Given the description of an element on the screen output the (x, y) to click on. 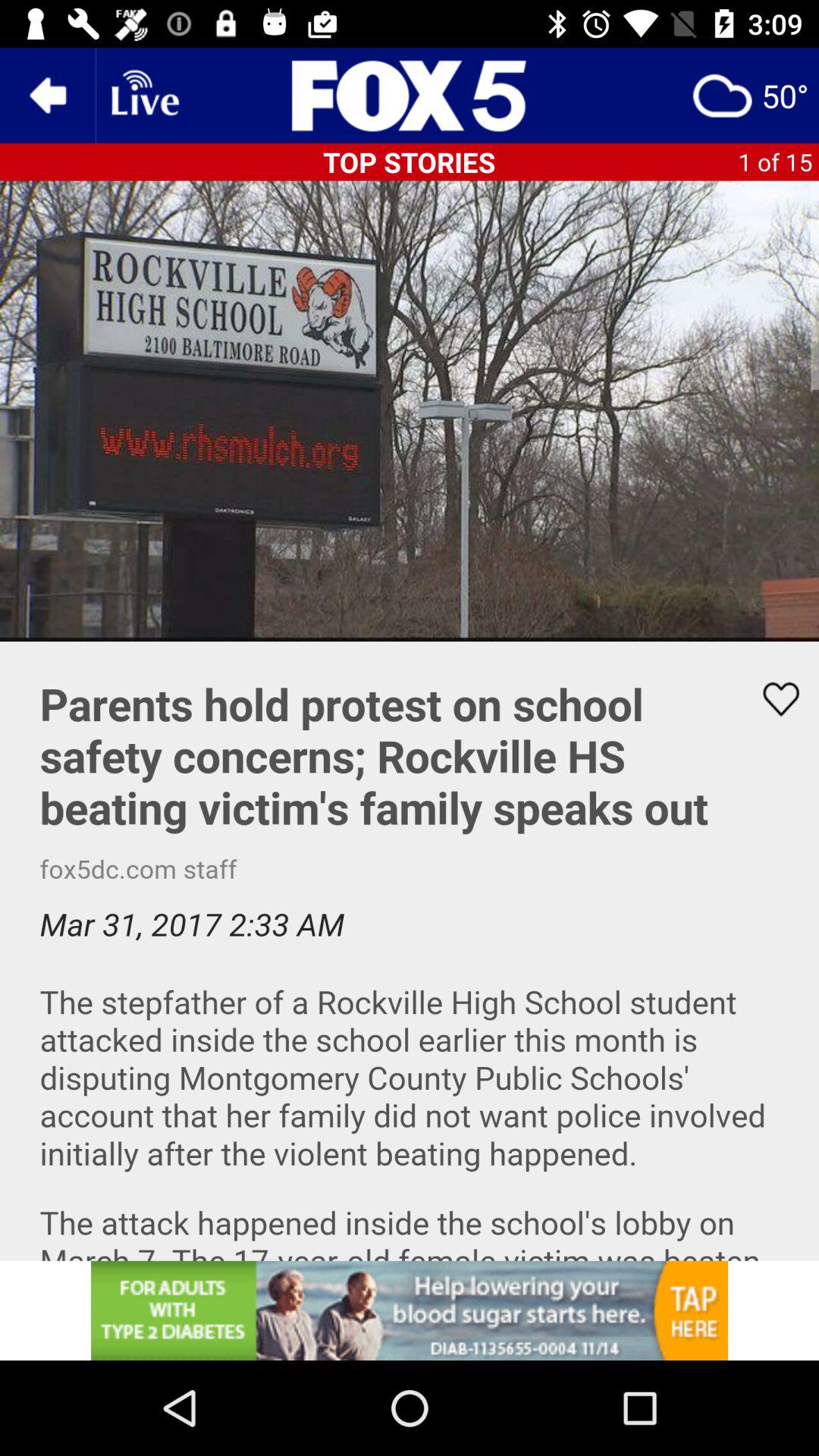
go to the previous page (47, 95)
